Given the description of an element on the screen output the (x, y) to click on. 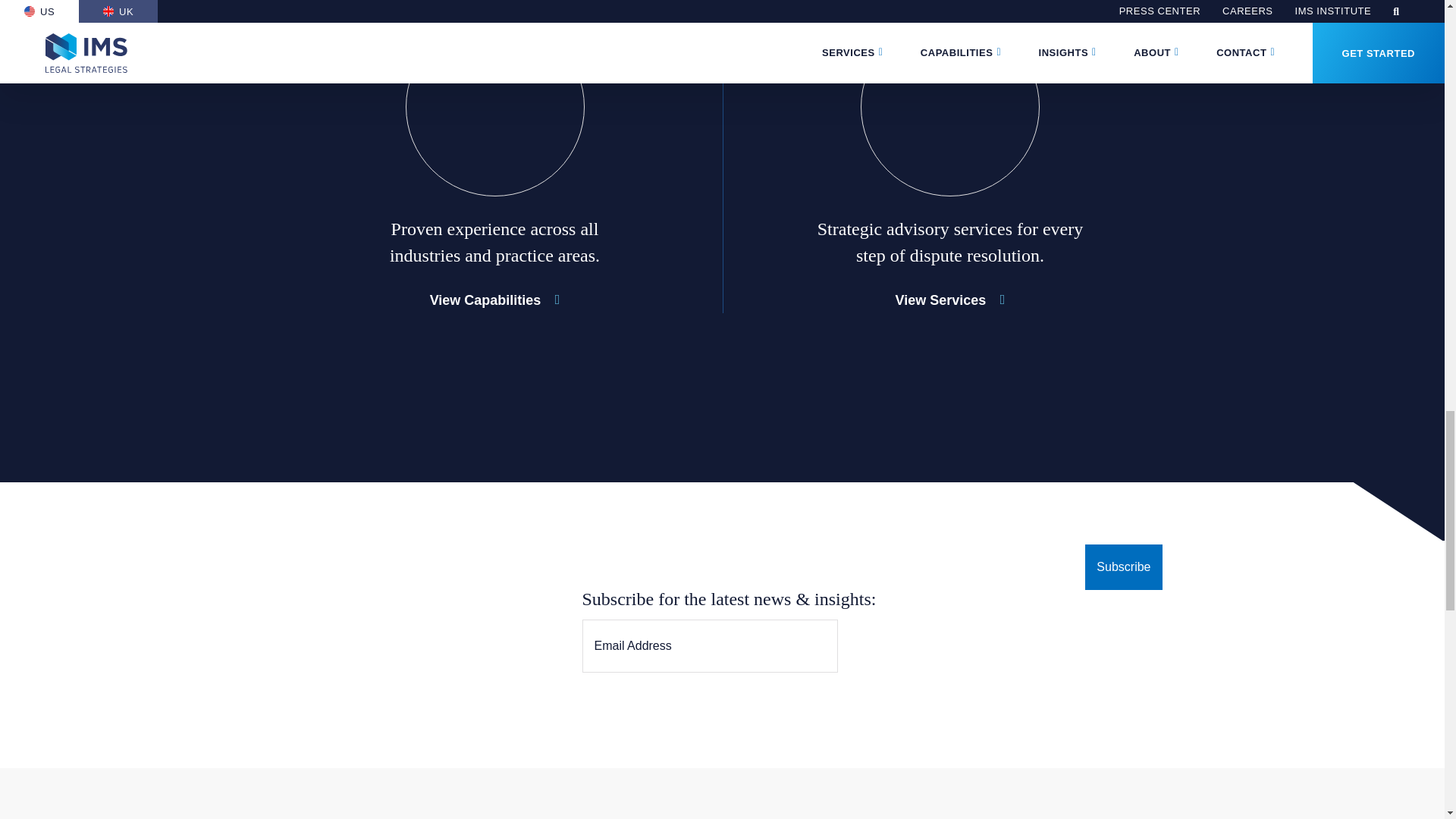
Subscribe (1122, 566)
